Given the description of an element on the screen output the (x, y) to click on. 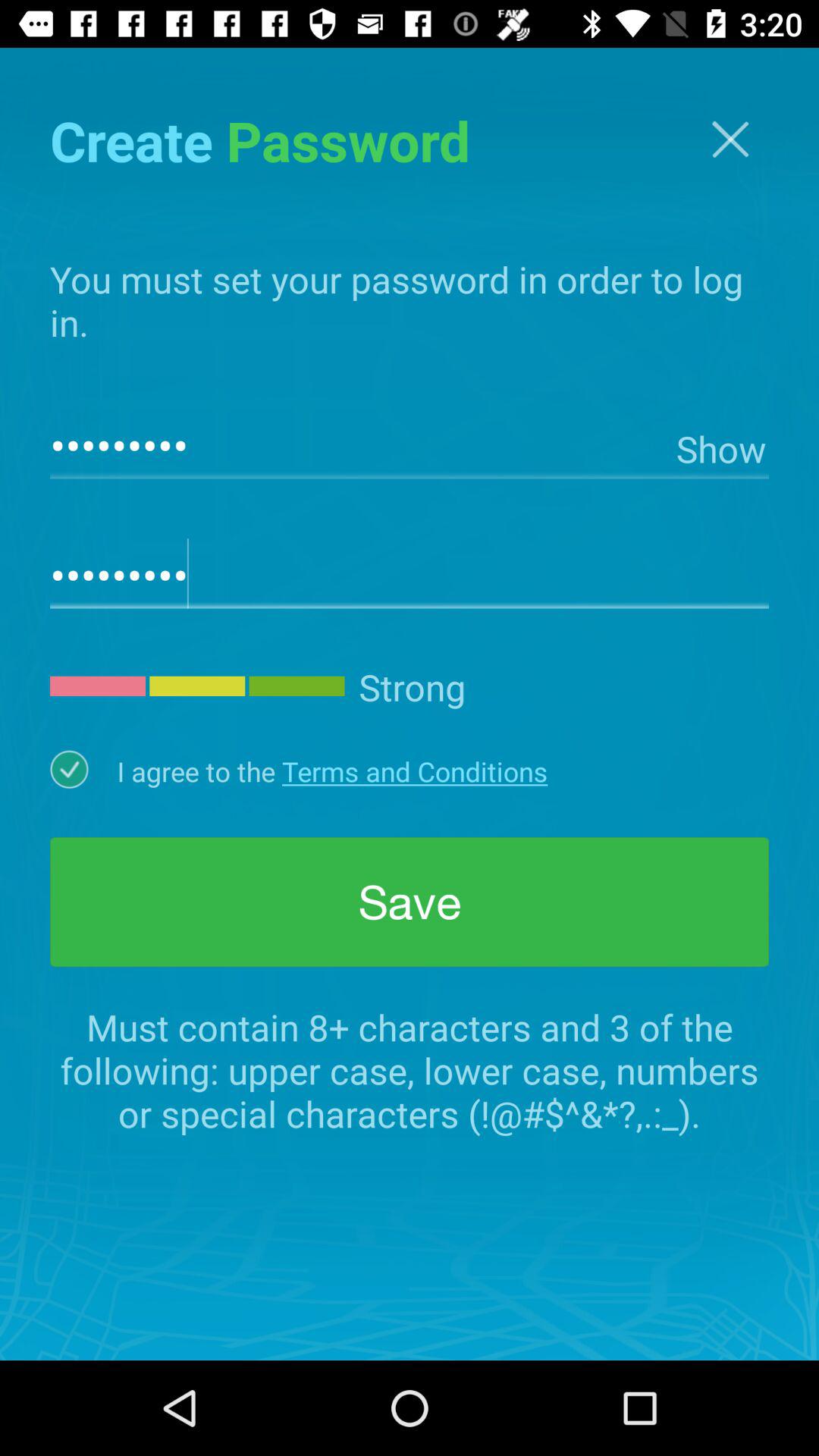
close screen (730, 139)
